Given the description of an element on the screen output the (x, y) to click on. 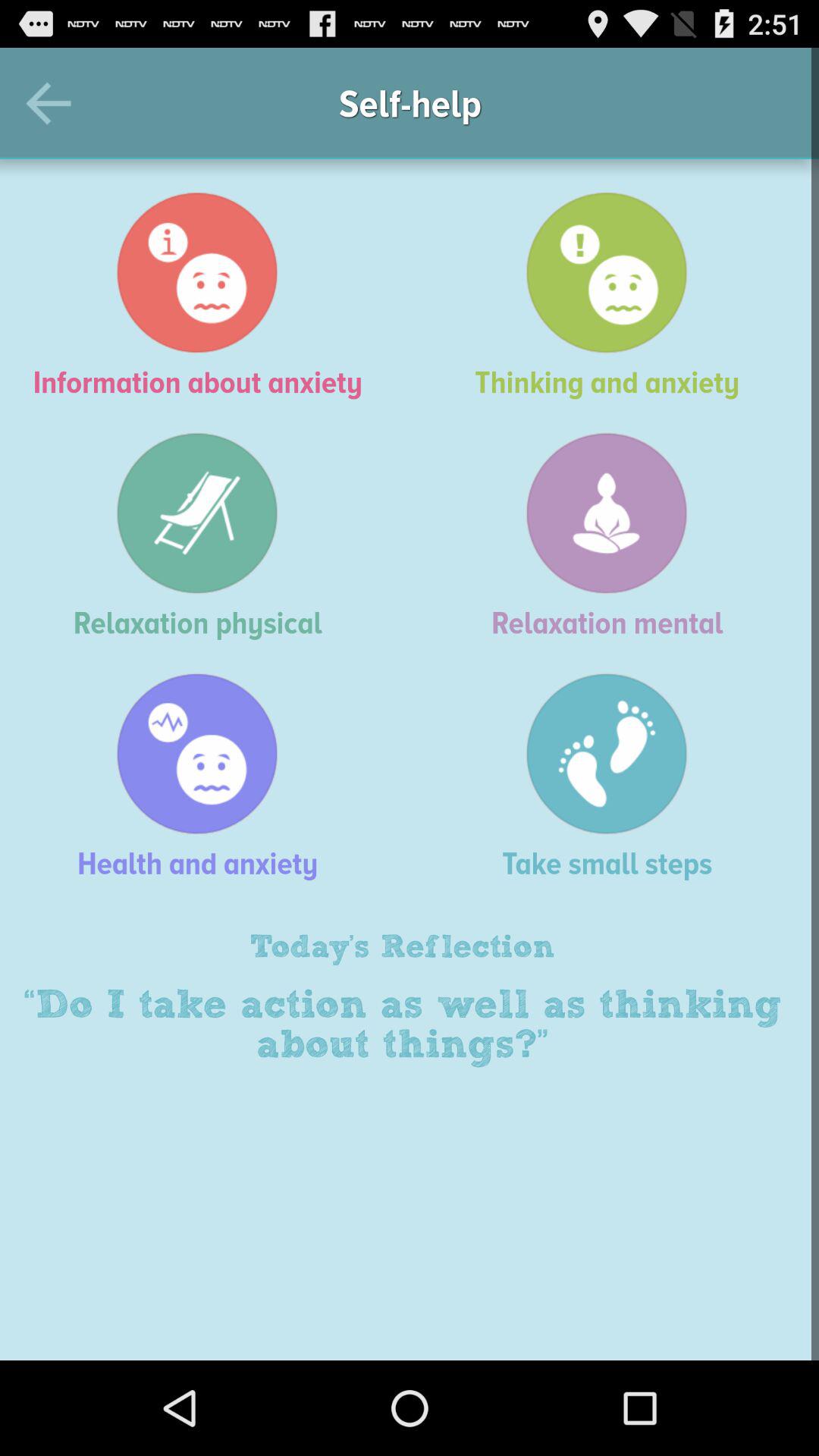
turn on item next to the  self-help (55, 103)
